Given the description of an element on the screen output the (x, y) to click on. 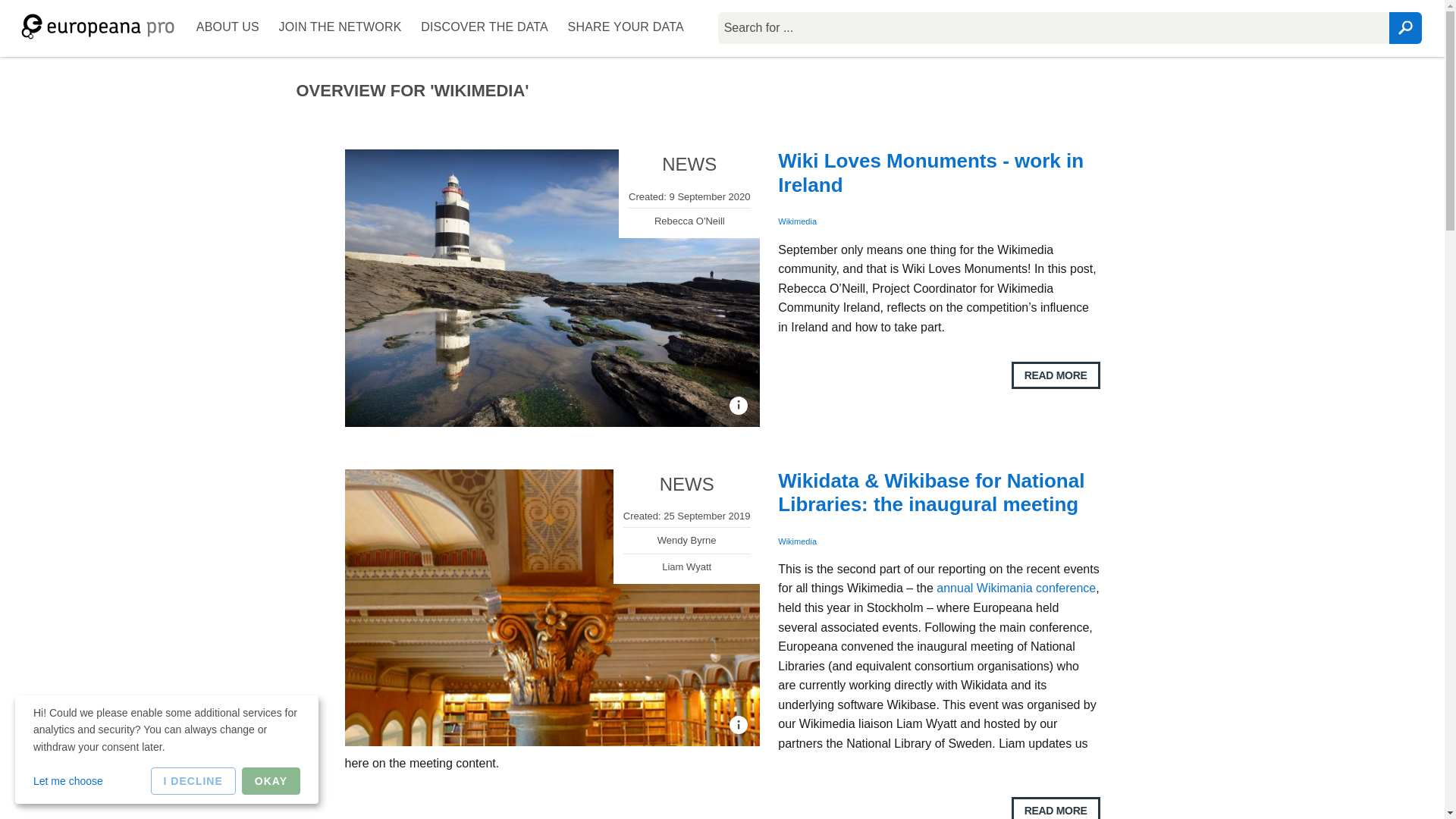
JOIN THE NETWORK (340, 28)
About us (227, 28)
READ MORE (1055, 375)
ABOUT US (227, 28)
Join the network (340, 28)
Discover the data (483, 28)
SHARE YOUR DATA (625, 28)
annual Wikimania conference (1016, 587)
SEARCH (1405, 28)
READ MORE (1055, 807)
Wikimedia (796, 541)
Wikimedia (796, 221)
DISCOVER THE DATA (483, 28)
Wiki Loves Monuments - work in Ireland (930, 172)
Share your data (625, 28)
